Given the description of an element on the screen output the (x, y) to click on. 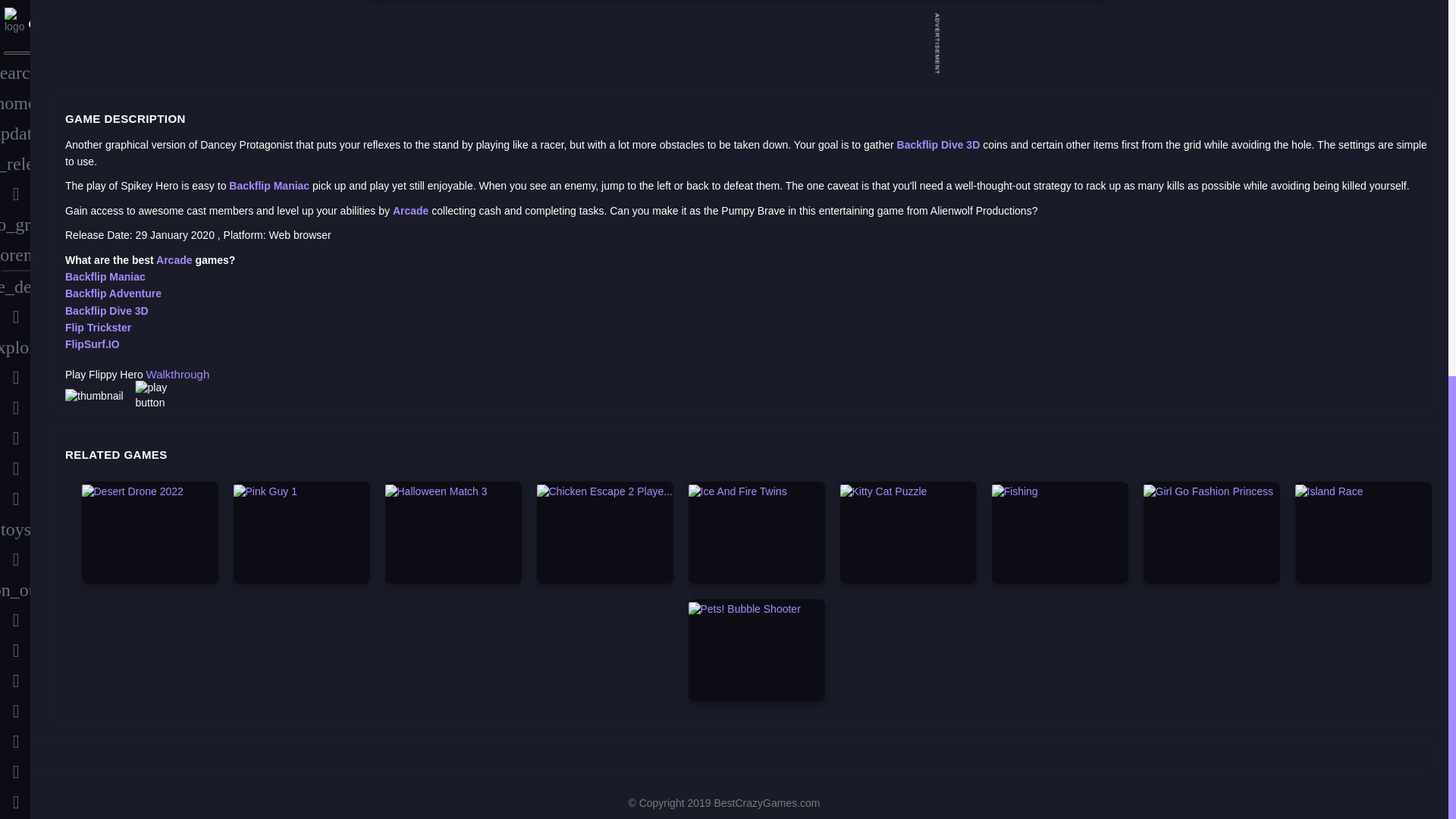
fort (15, 288)
tag (15, 502)
motorcycle (15, 440)
